Given the description of an element on the screen output the (x, y) to click on. 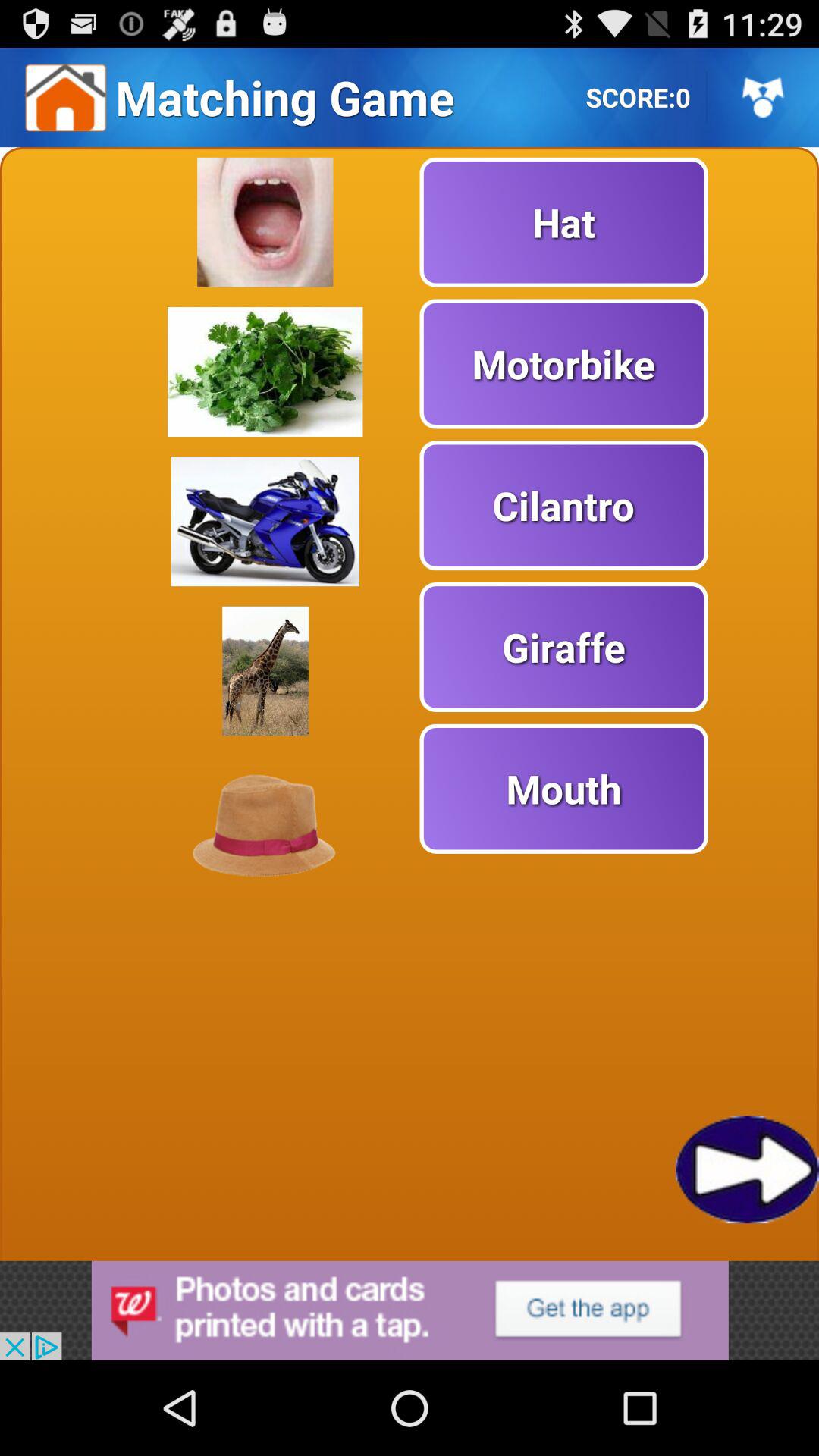
advertisement link (409, 1310)
